Given the description of an element on the screen output the (x, y) to click on. 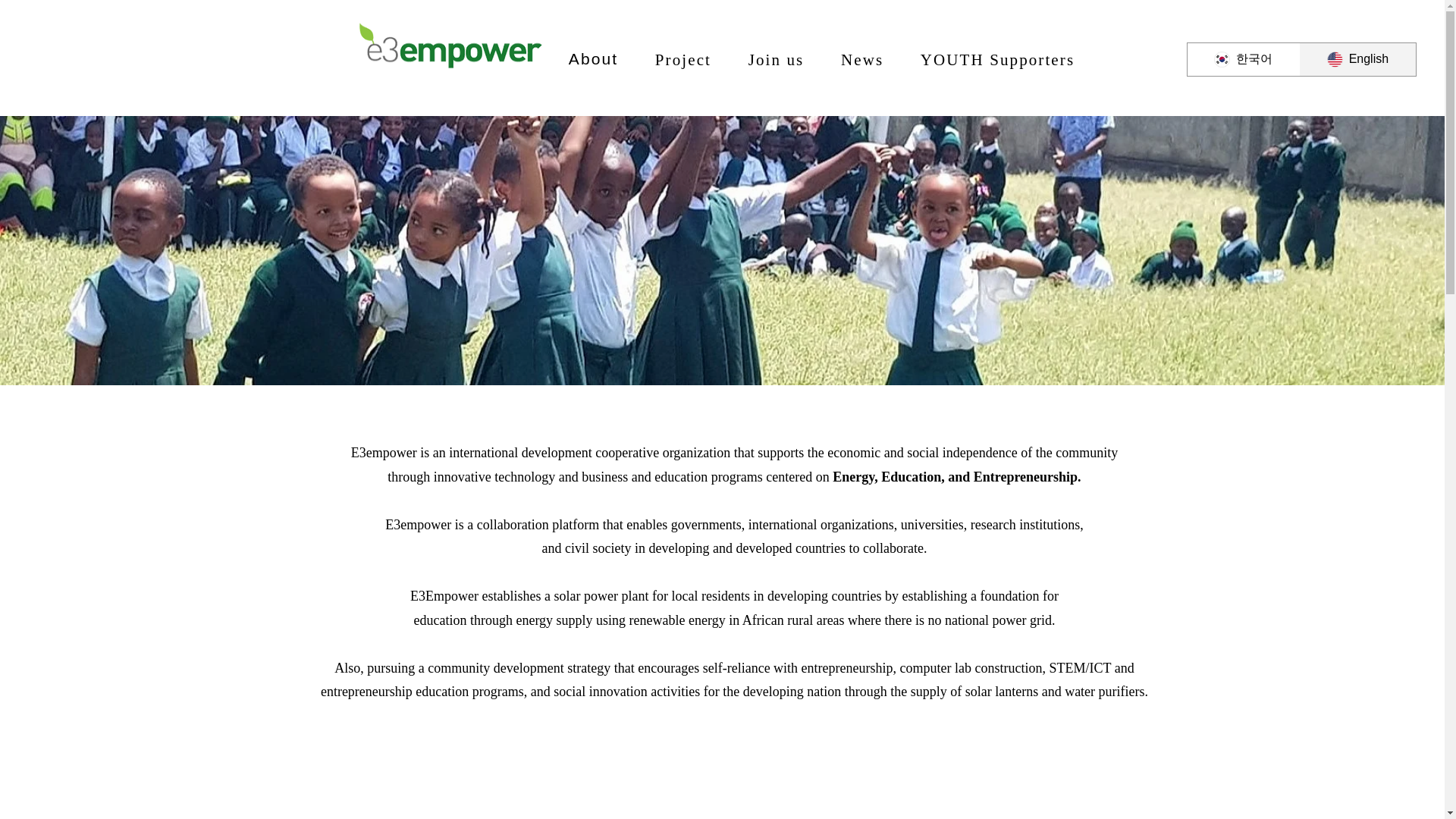
News (821, 59)
About (862, 59)
Project (593, 59)
English (683, 59)
Join us (1356, 59)
YOUTH Supporters (775, 59)
